Given the description of an element on the screen output the (x, y) to click on. 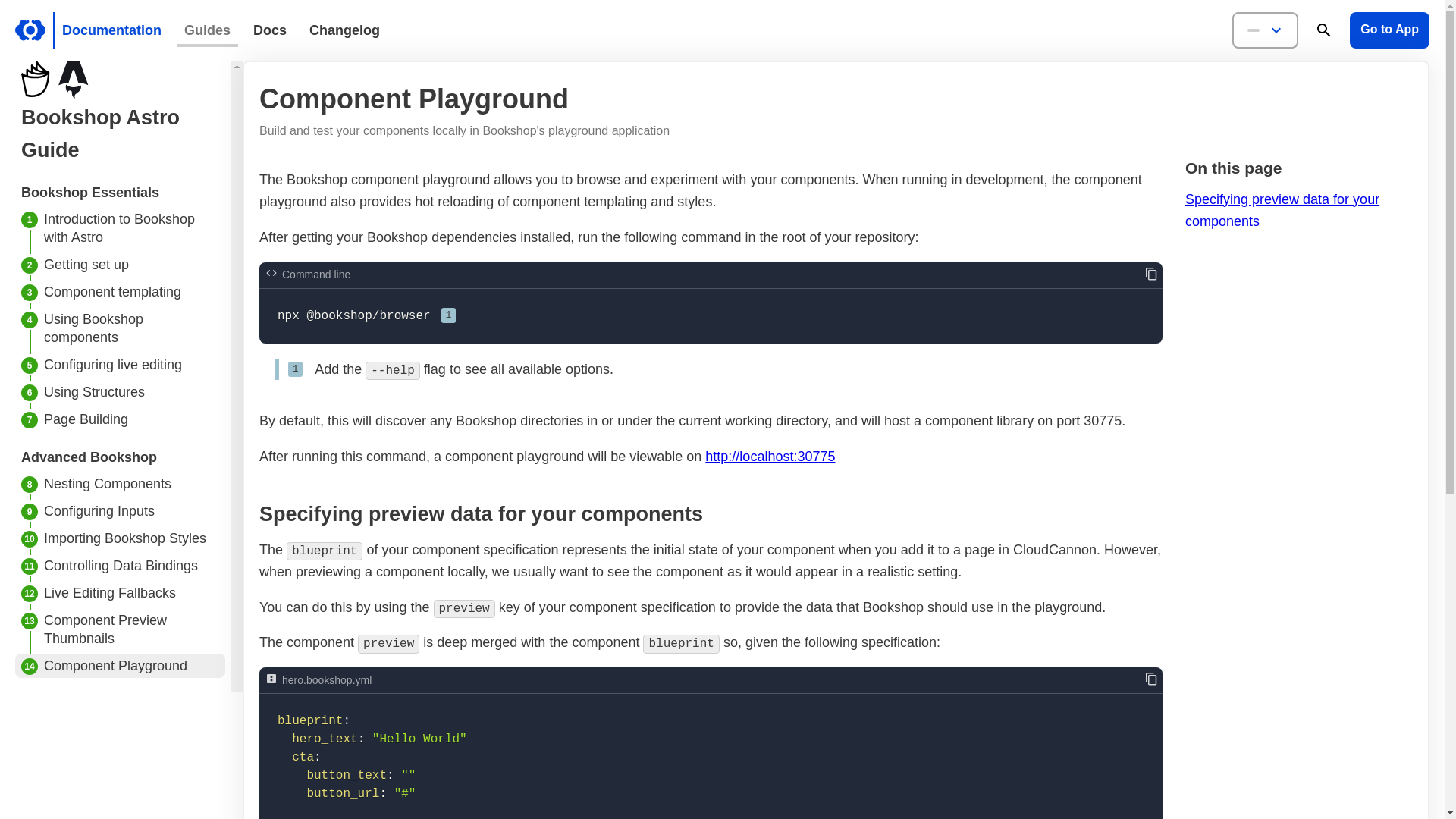
Documentation (111, 30)
Go to App (1389, 30)
Search (1324, 30)
Docs (270, 30)
Copy contents (1150, 275)
Changelog (344, 30)
Copy contents (1150, 679)
Guides (207, 30)
